Given the description of an element on the screen output the (x, y) to click on. 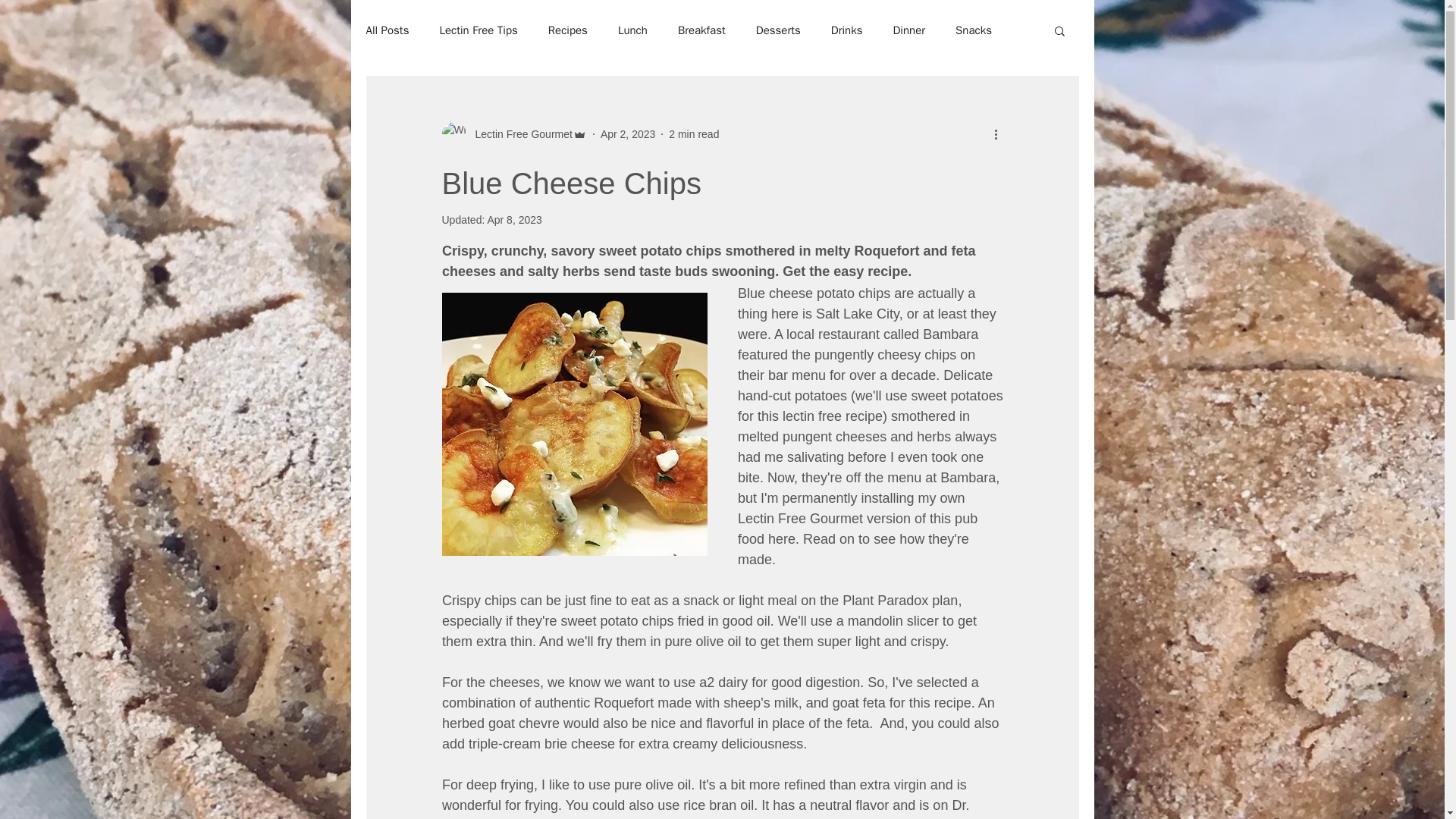
Lectin Free Gourmet (518, 133)
2 min read (693, 133)
Recipes (568, 29)
Breakfast (701, 29)
Apr 8, 2023 (513, 219)
Desserts (777, 29)
Lectin Free Gourmet (513, 134)
All Posts (387, 29)
Lectin Free Tips (477, 29)
Apr 2, 2023 (627, 133)
